Given the description of an element on the screen output the (x, y) to click on. 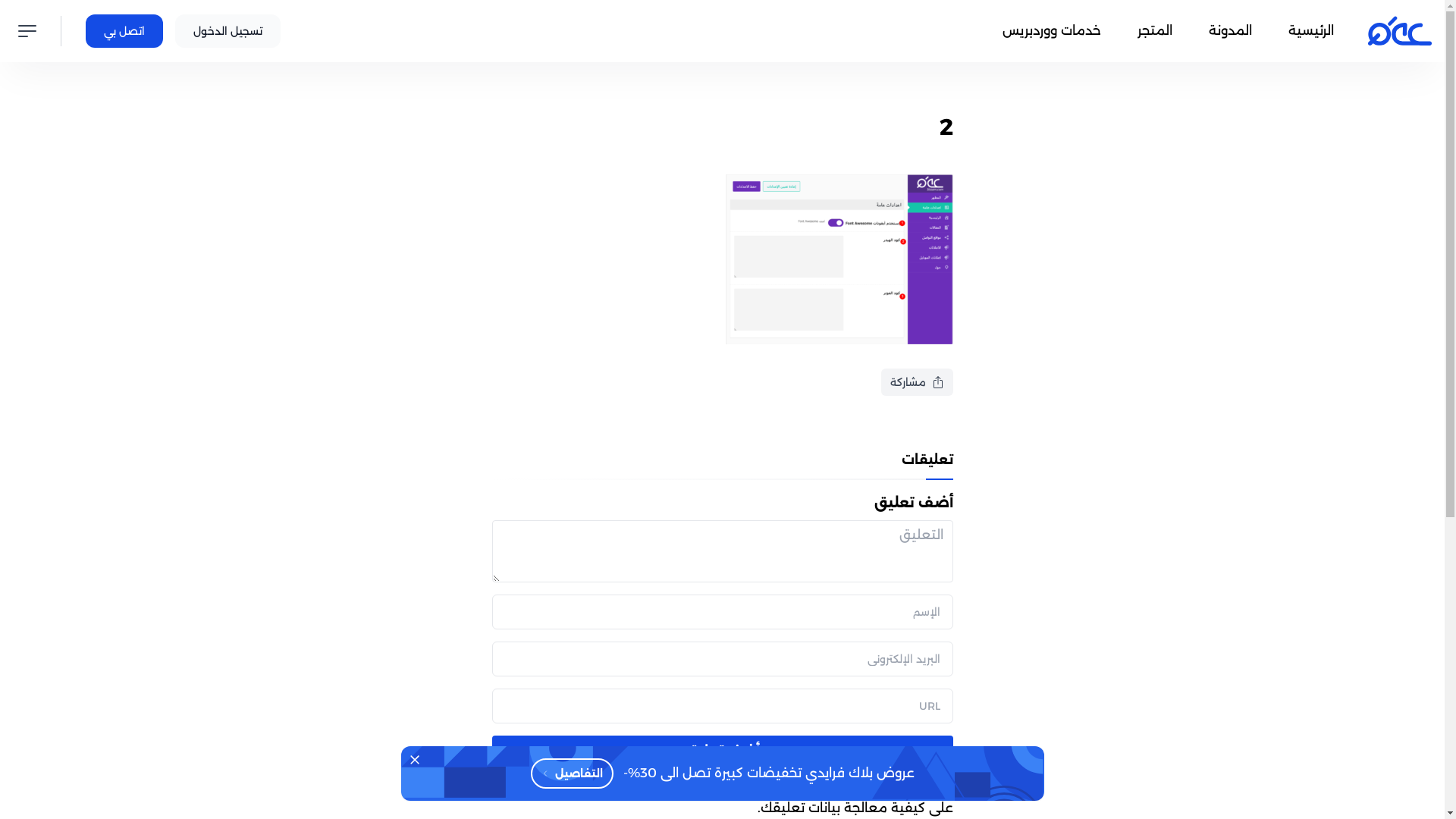
Dismiss Element type: text (413, 759)
